Given the description of an element on the screen output the (x, y) to click on. 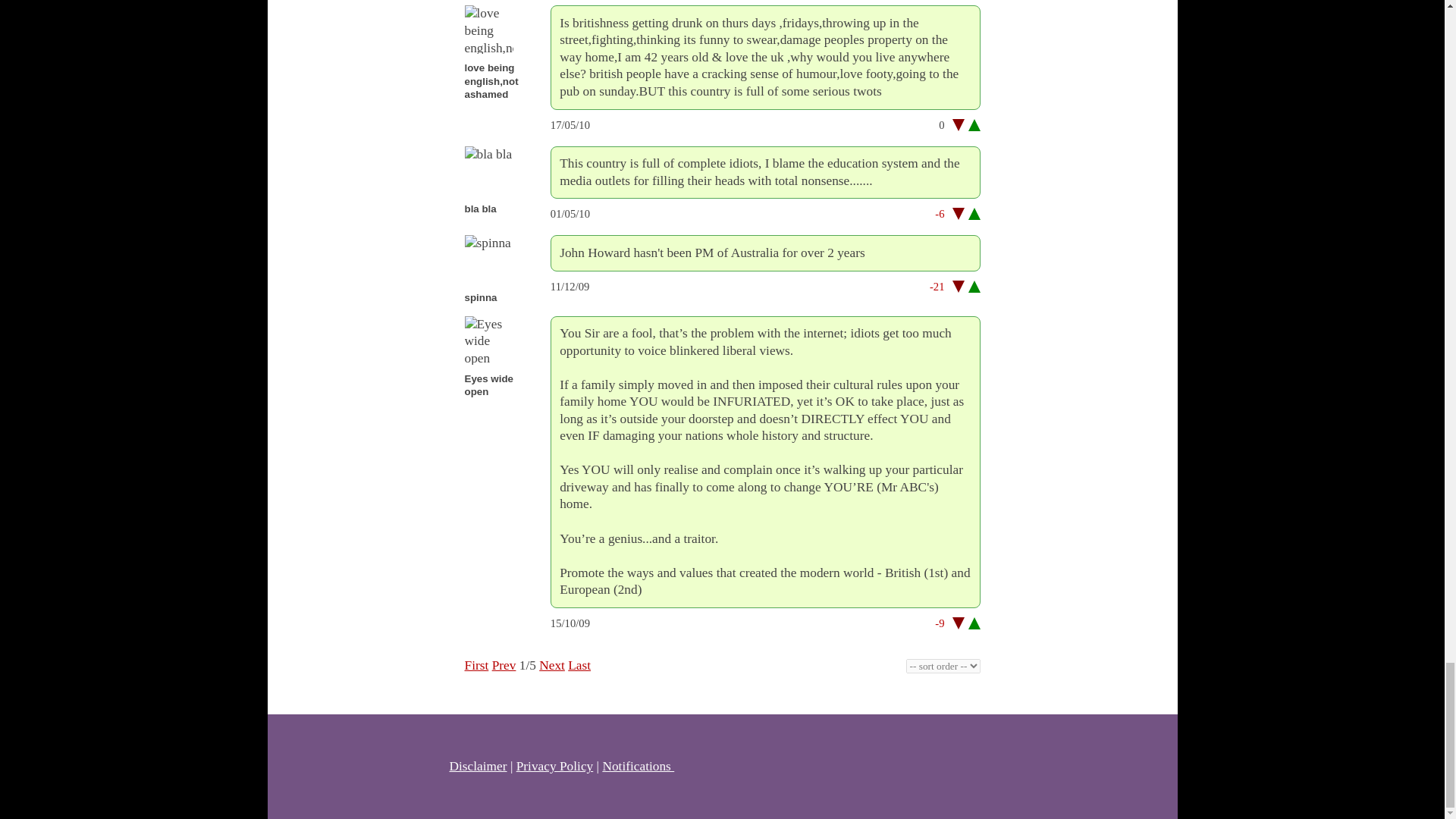
Last (579, 665)
Next (551, 665)
First (476, 665)
Prev (504, 665)
